Given the description of an element on the screen output the (x, y) to click on. 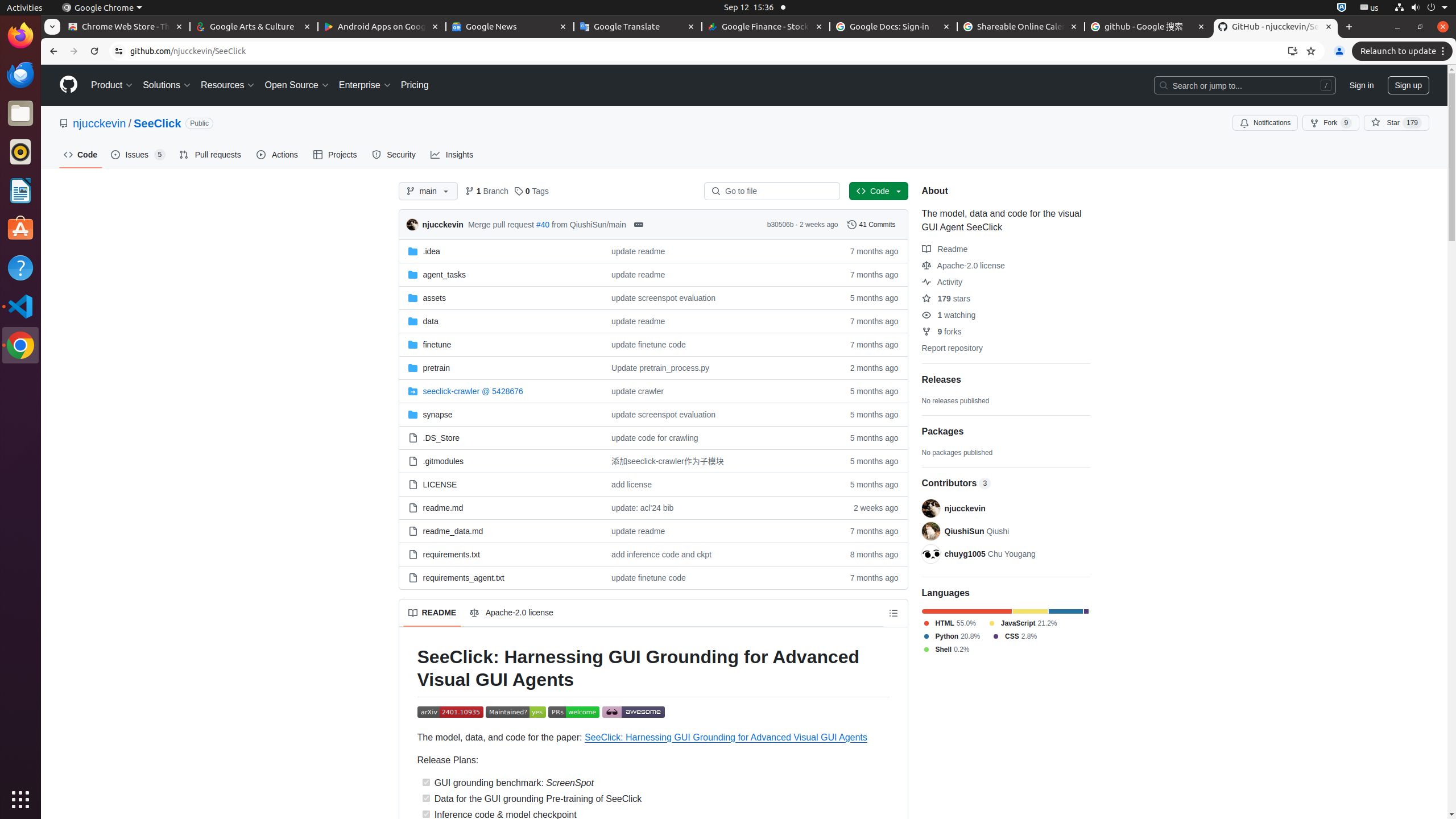
update: acl'24 bib Element type: link (642, 507)
LICENSE, (File) Element type: table-cell (500, 483)
:1.21/StatusNotifierItem Element type: menu (1369, 7)
Resources Element type: push-button (227, 84)
commits by njucckevin Element type: link (442, 224)
